Given the description of an element on the screen output the (x, y) to click on. 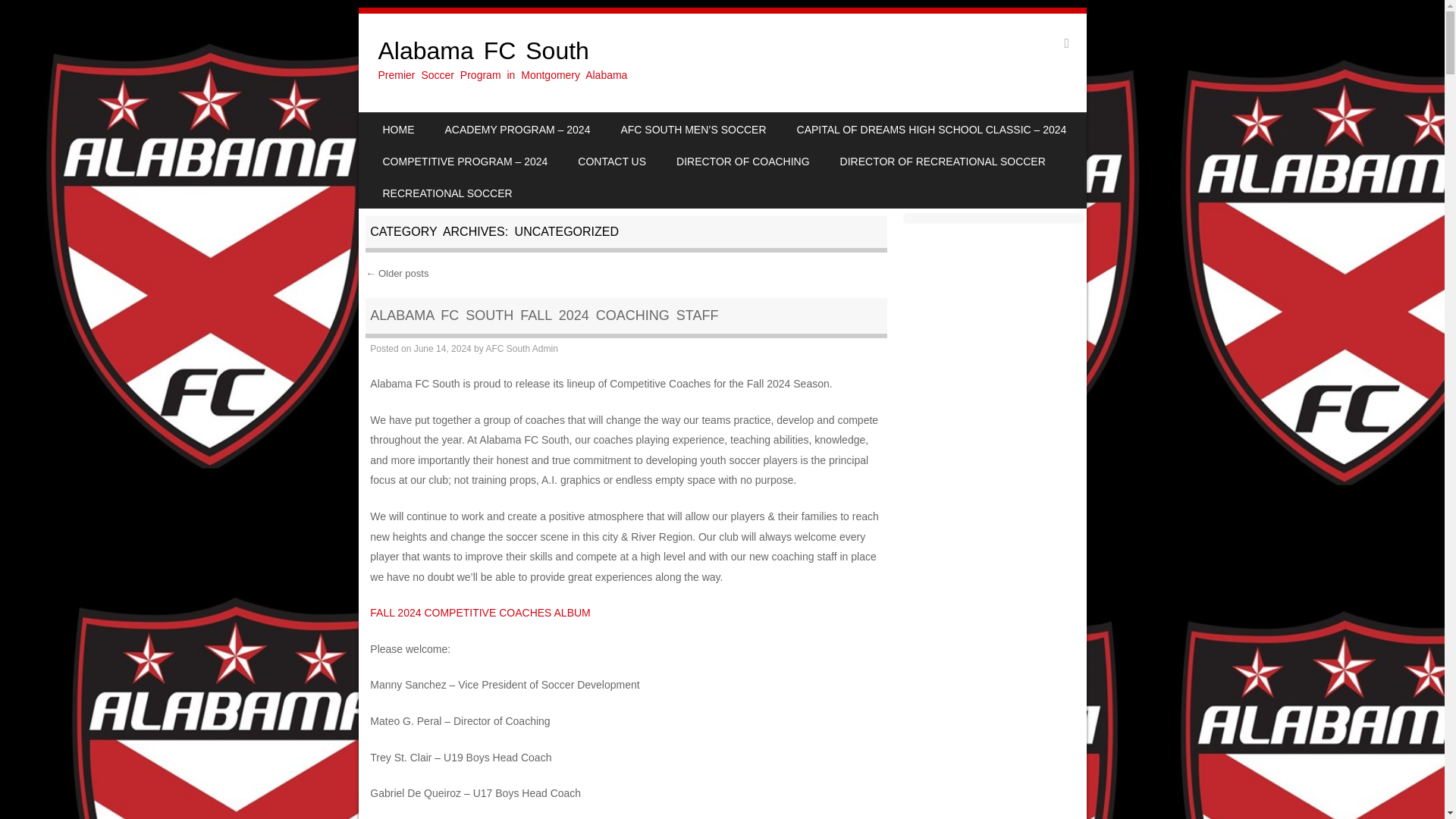
Skip to content (405, 122)
10:28 pm (442, 348)
Alabama FC South (483, 50)
DIRECTOR OF RECREATIONAL SOCCER (943, 160)
DIRECTOR OF COACHING (743, 160)
Alabama FC South (483, 50)
CONTACT US (611, 160)
RECREATIONAL SOCCER (446, 192)
HOME (397, 128)
SKIP TO CONTENT (405, 122)
